Given the description of an element on the screen output the (x, y) to click on. 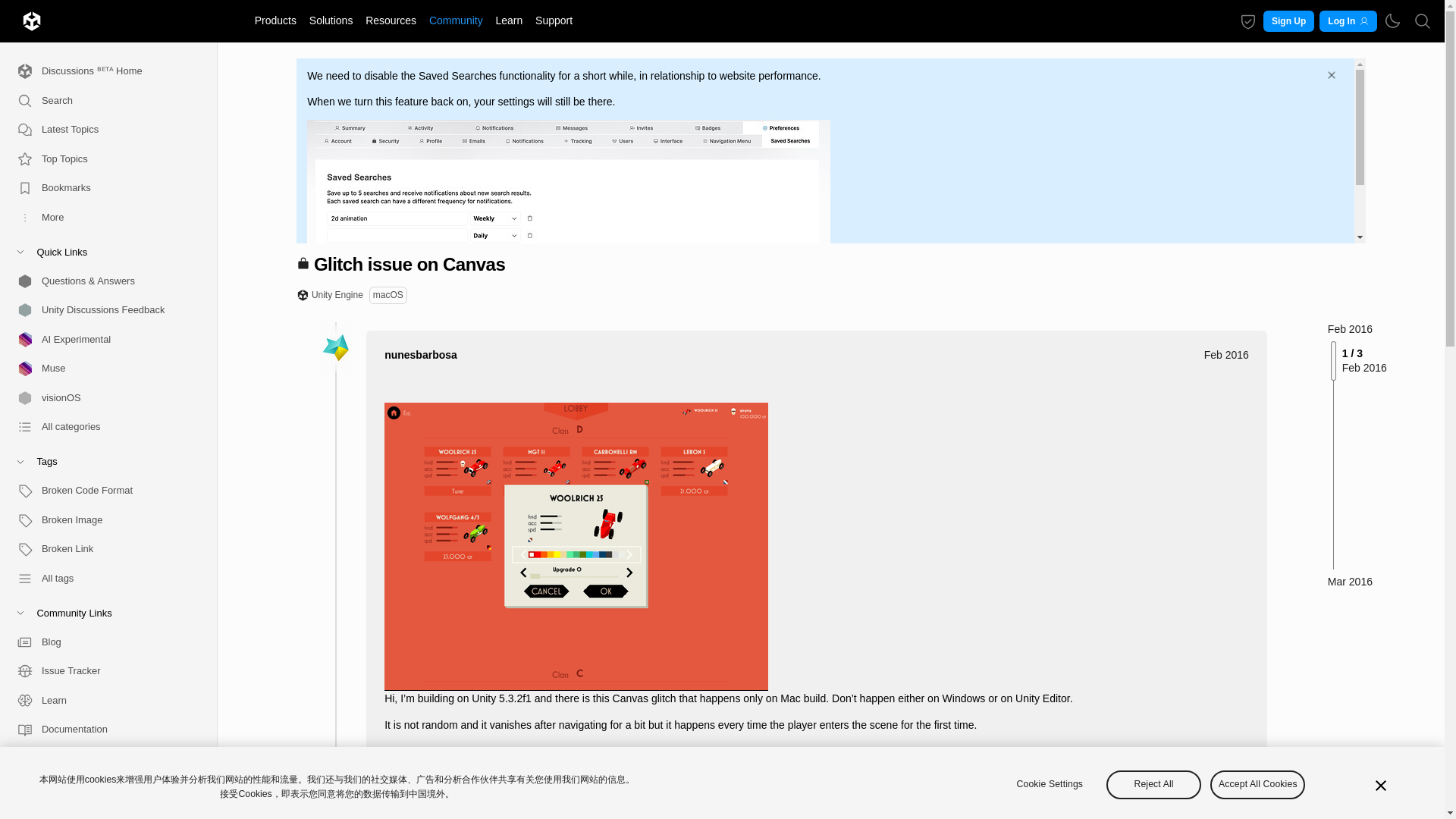
Blog (102, 641)
Keyboard Shortcuts (199, 804)
Bookmarks (102, 188)
Documentation (102, 729)
Toggle color scheme (1392, 21)
More (102, 216)
Learn (509, 20)
Learn (102, 699)
Advocates (102, 810)
Log In (1347, 20)
Sign Up (1288, 20)
Products (274, 20)
Resources (391, 20)
